Given the description of an element on the screen output the (x, y) to click on. 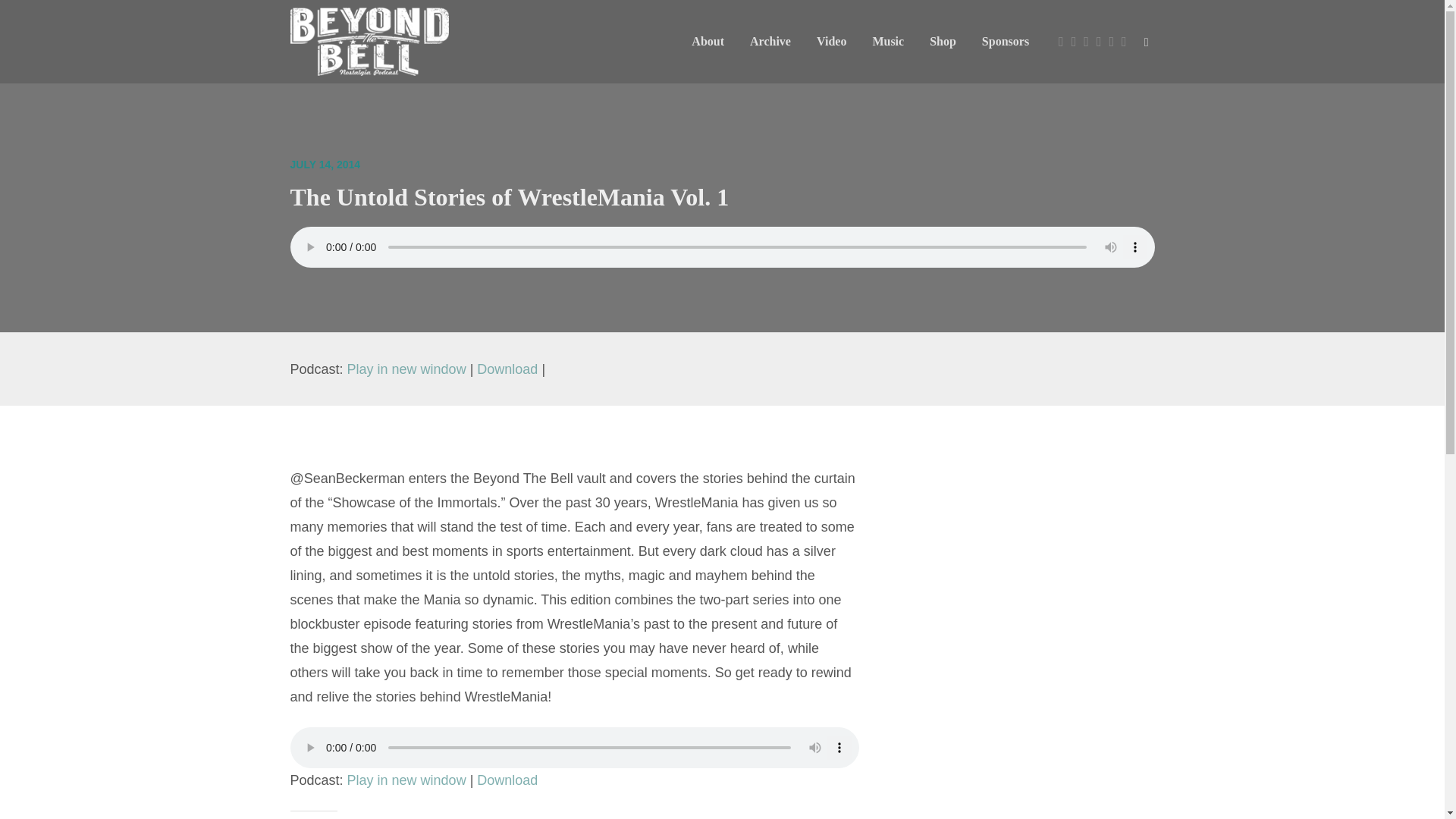
Download (507, 368)
Sponsors (1006, 41)
Play in new window (406, 368)
Download (507, 368)
Play in new window (406, 368)
Download (507, 780)
Play in new window (406, 780)
Download (507, 780)
Play in new window (406, 780)
